Given the description of an element on the screen output the (x, y) to click on. 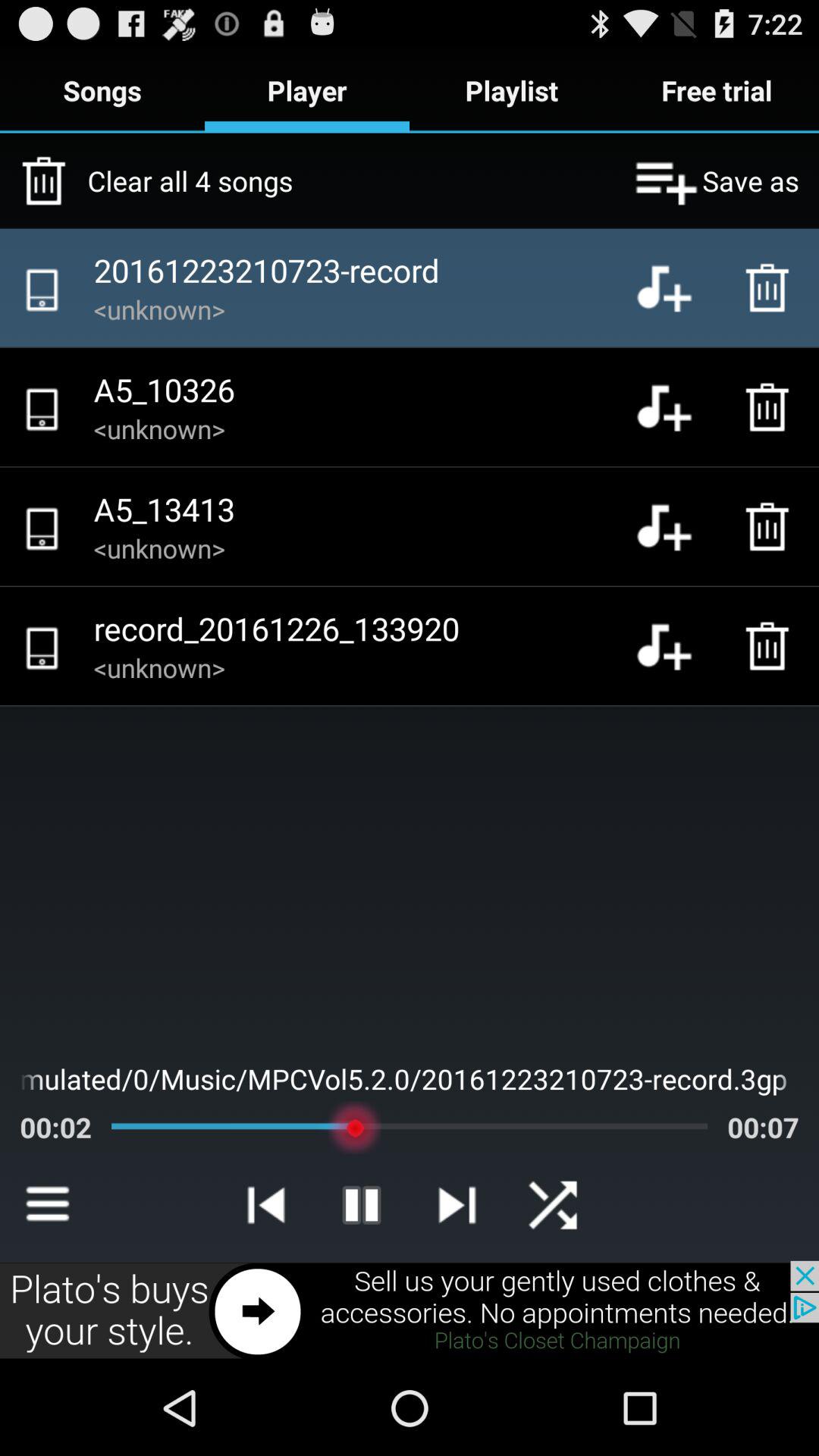
go to delete (771, 526)
